Given the description of an element on the screen output the (x, y) to click on. 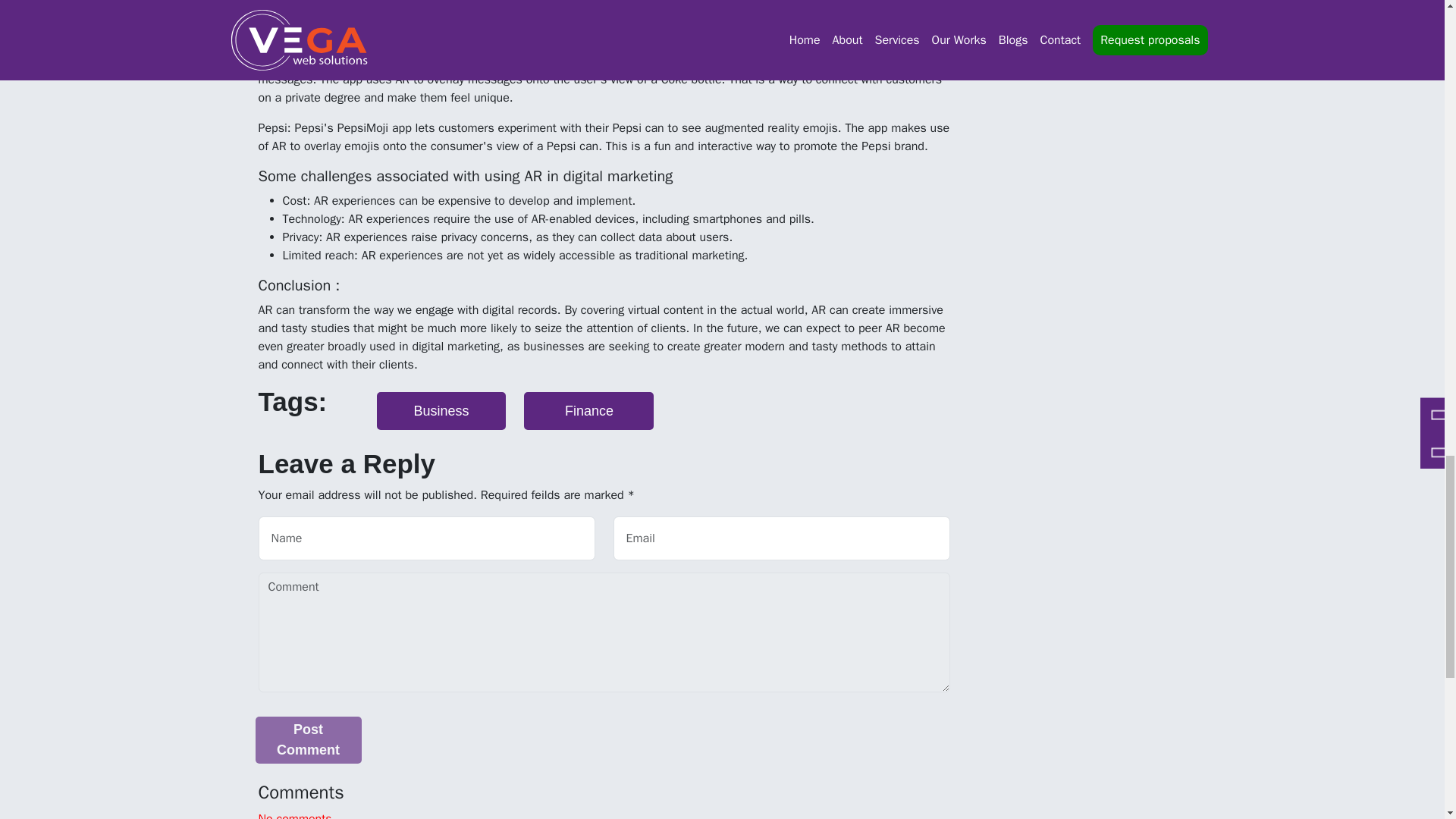
Post Comment (307, 739)
Business (440, 410)
Finance (588, 410)
